Given the description of an element on the screen output the (x, y) to click on. 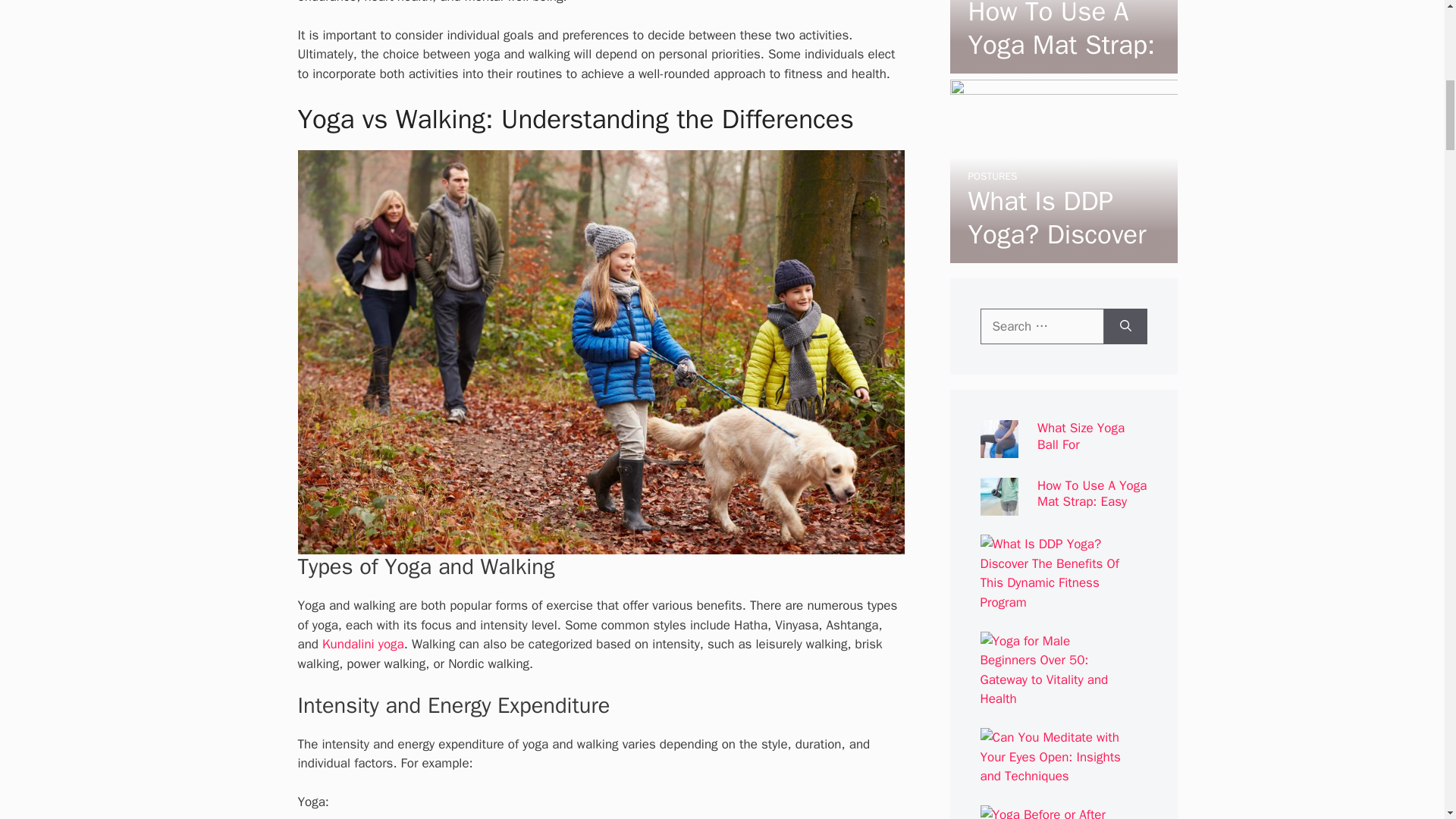
Kundalini yoga (362, 643)
POSTURES (992, 175)
How To Use A Yoga Mat Strap: Easy Step-by-Step Guide (1061, 64)
What Size Yoga Ball For Pregnancy? Choosing The Right Fit (1057, 2)
How To Use A Yoga Mat Strap: Easy Step-by-Step Guide (1062, 63)
